Given the description of an element on the screen output the (x, y) to click on. 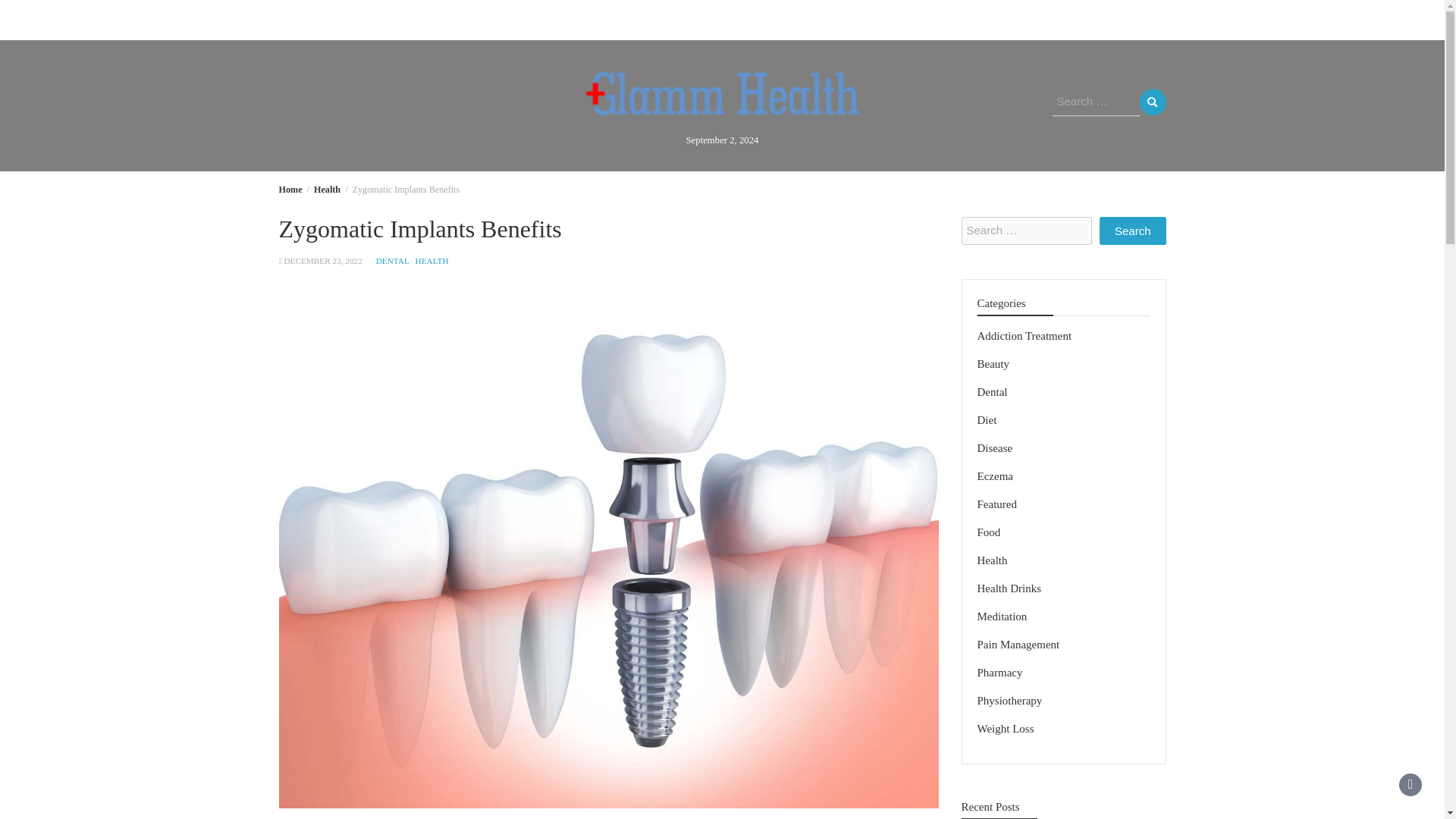
Search (1132, 230)
Dental (991, 391)
Meditation (729, 20)
Addiction Treatment (1023, 336)
Health (327, 189)
DENTAL (392, 260)
Diet (800, 20)
Search (1132, 230)
Search (1132, 230)
Health (580, 20)
